Given the description of an element on the screen output the (x, y) to click on. 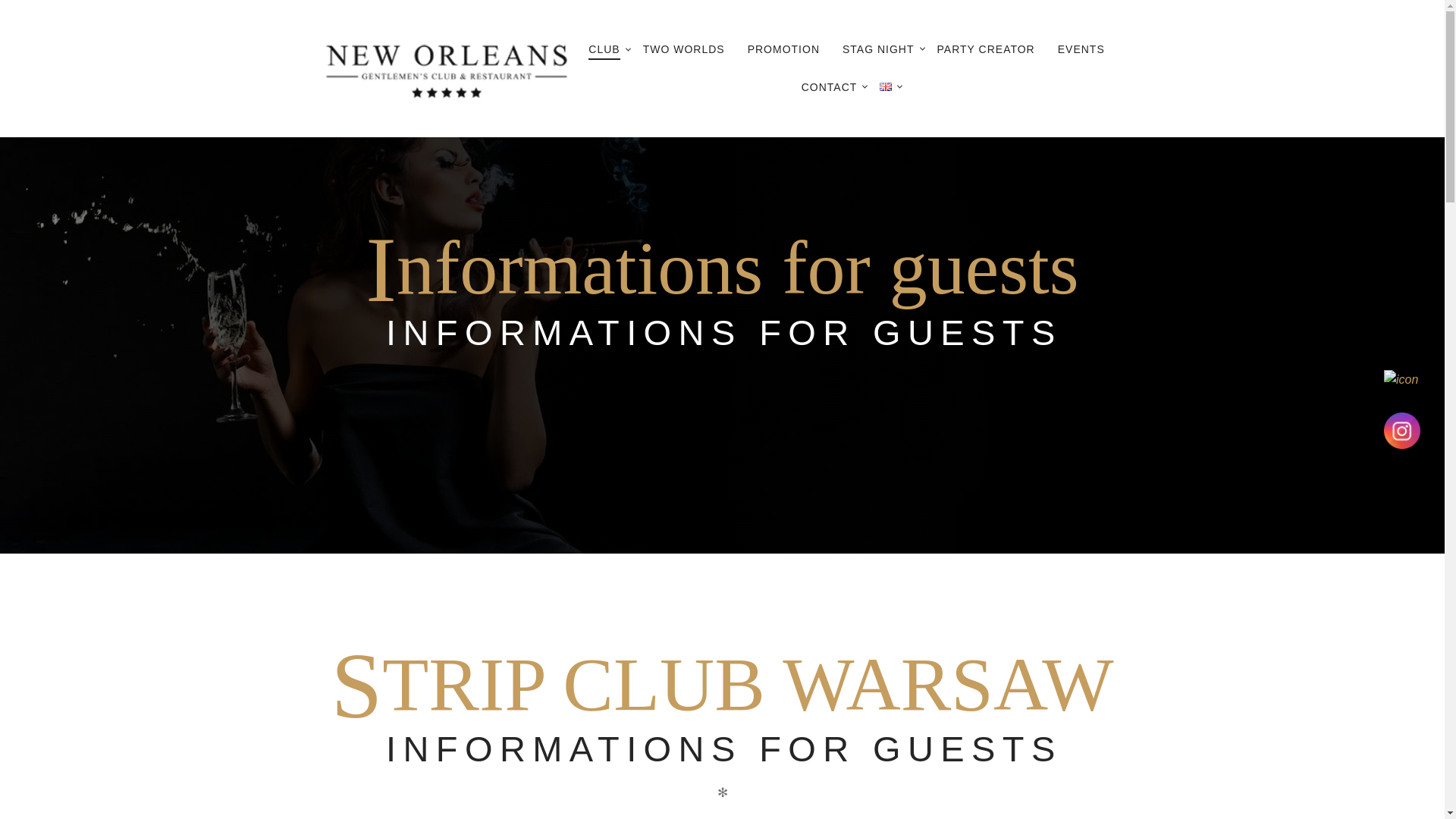
Facebook (1402, 388)
STAG NIGHT (878, 49)
PARTY CREATOR (986, 49)
Instagram (1402, 430)
CONTACT (829, 86)
TWO WORLDS (683, 49)
PROMOTION (783, 49)
CLUB (603, 49)
New Orleans Night Club (445, 68)
EVENTS (1081, 49)
